Given the description of an element on the screen output the (x, y) to click on. 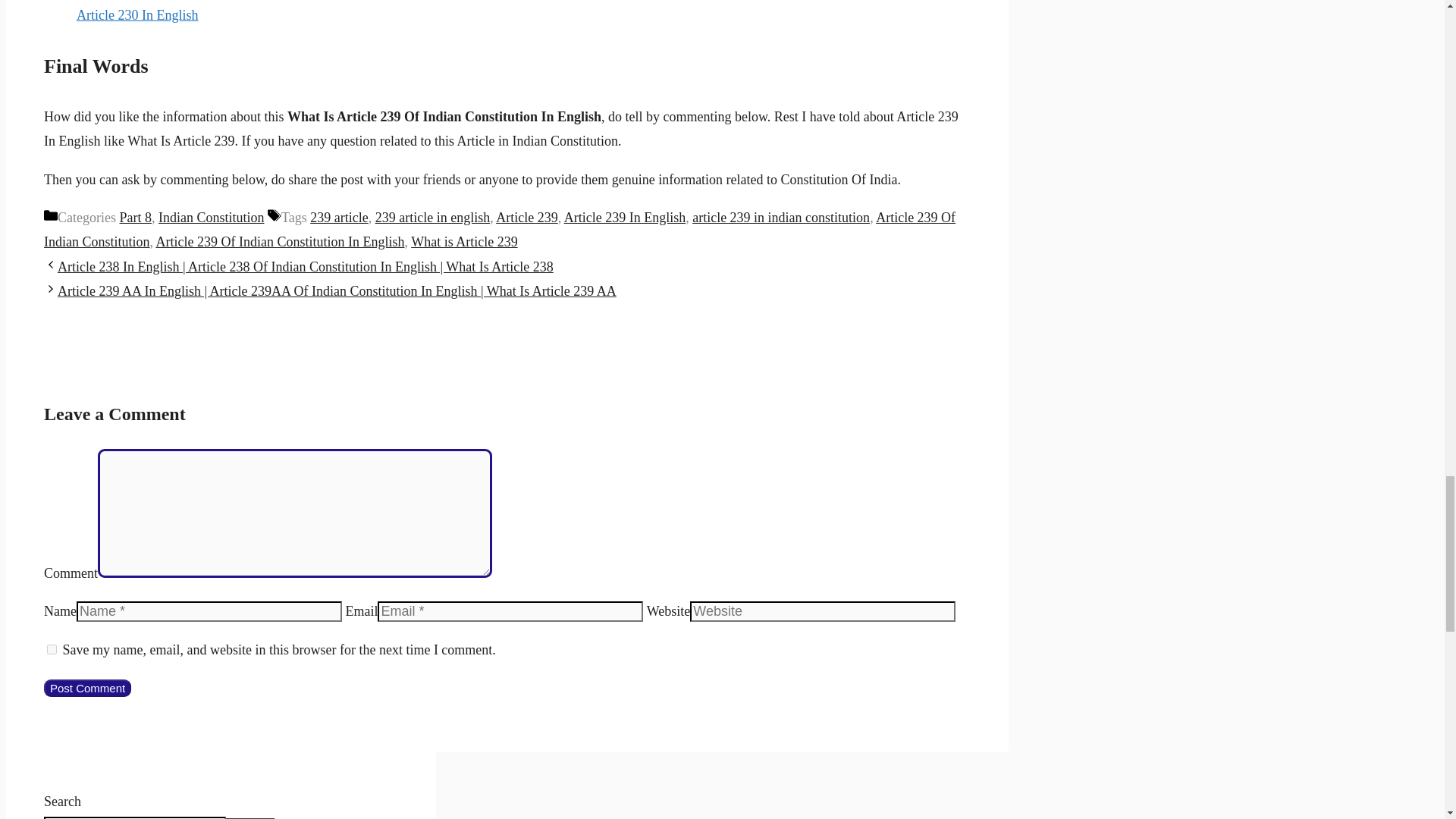
Article 239 In English (624, 217)
Article 239 Of Indian Constitution (499, 229)
yes (51, 649)
239 article in english (432, 217)
Post Comment (87, 687)
Article 230 In English (137, 14)
article 239 in indian constitution (781, 217)
Article 239 (526, 217)
239 article (339, 217)
What is Article 239 (463, 241)
Indian Constitution (211, 217)
Part 8 (135, 217)
Article 239 Of Indian Constitution In English (279, 241)
